Given the description of an element on the screen output the (x, y) to click on. 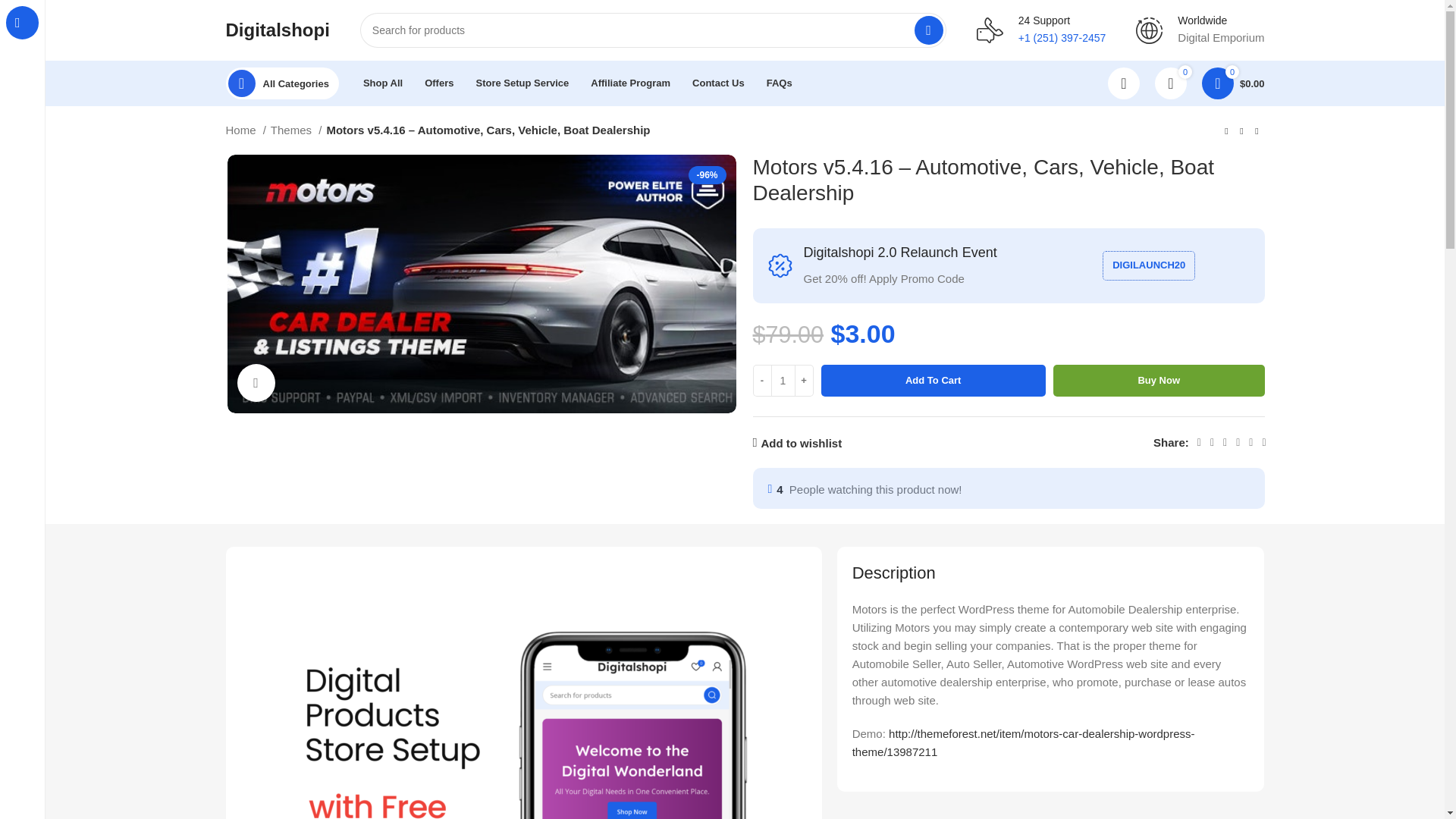
Shop All (382, 82)
Shopping cart (1232, 82)
Digitalshopi (277, 29)
Contact Us (718, 82)
Home (245, 130)
weoHtFe (481, 283)
Search (928, 30)
promotions (779, 265)
My Wishlist (1170, 82)
Store Setup Service (521, 82)
My account (1123, 82)
Affiliate Program (629, 82)
0 (1170, 82)
FAQs (779, 82)
Search for products (652, 30)
